Given the description of an element on the screen output the (x, y) to click on. 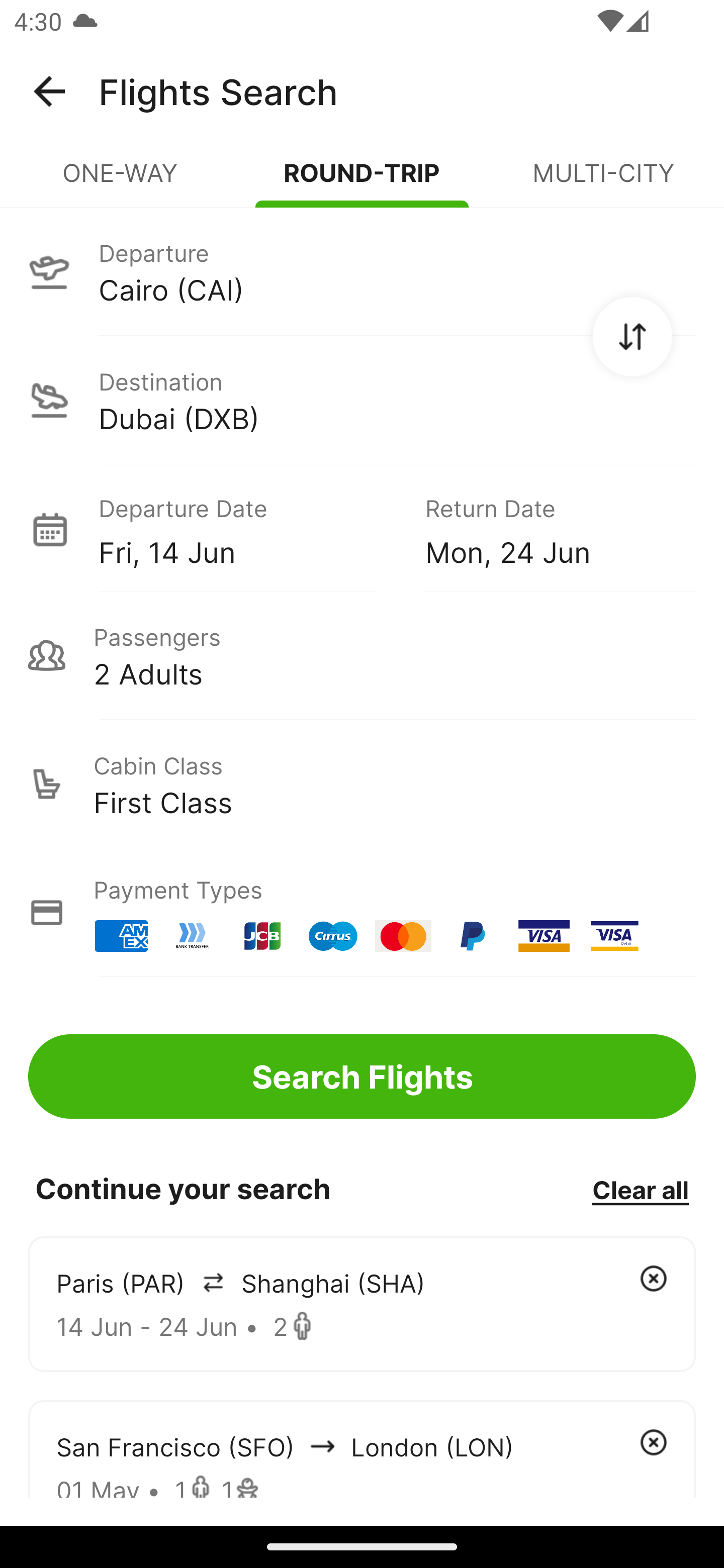
ONE-WAY (120, 180)
ROUND-TRIP (361, 180)
MULTI-CITY (603, 180)
Departure Cairo (CAI) (362, 270)
Destination Dubai (DXB) (362, 400)
Departure Date Fri, 14 Jun (247, 528)
Return Date Mon, 24 Jun (546, 528)
Passengers 2 Adults (362, 655)
Cabin Class First Class (362, 783)
Payment Types (362, 912)
Search Flights (361, 1075)
Clear all (640, 1189)
